Given the description of an element on the screen output the (x, y) to click on. 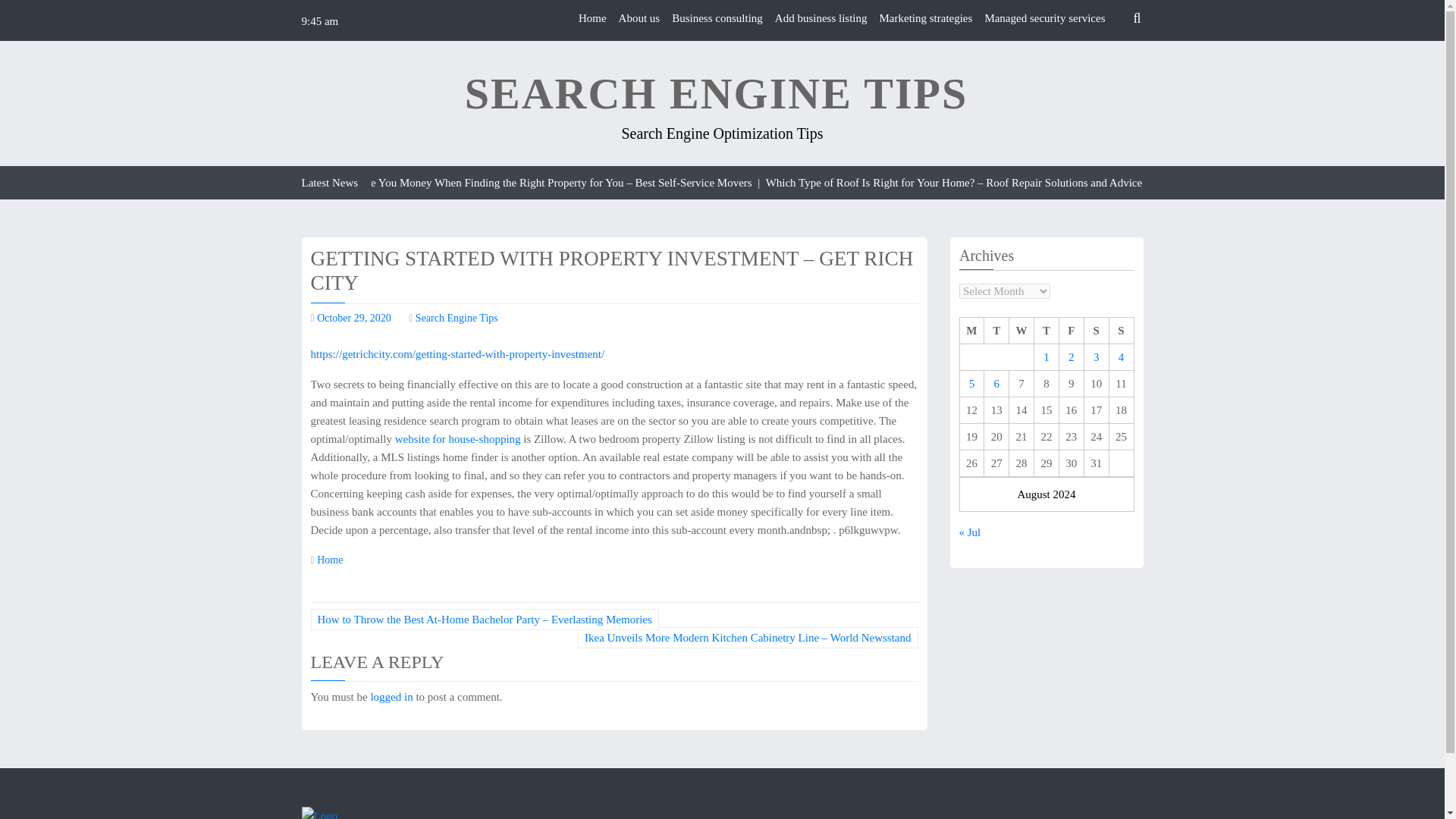
Search (1109, 54)
October 29, 2020 (354, 317)
Add business listing (820, 18)
Search Engine Tips (455, 317)
Saturday (1095, 330)
Wednesday (1021, 330)
Home (329, 559)
About us (639, 18)
Home (592, 18)
website for house-shopping (459, 439)
Tuesday (996, 330)
SEARCH ENGINE TIPS (716, 93)
Business consulting (716, 18)
Friday (1070, 330)
logged in (390, 696)
